Given the description of an element on the screen output the (x, y) to click on. 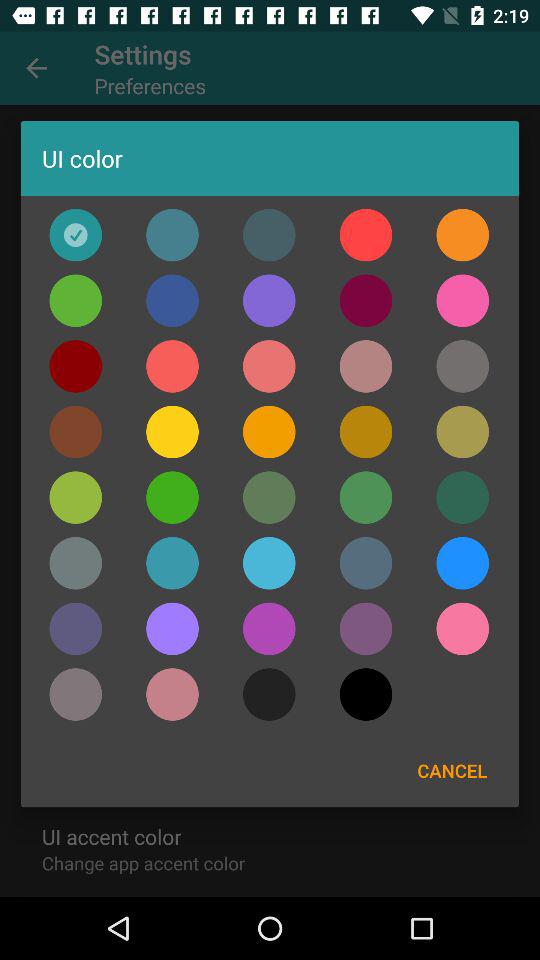
coloring option (365, 694)
